Given the description of an element on the screen output the (x, y) to click on. 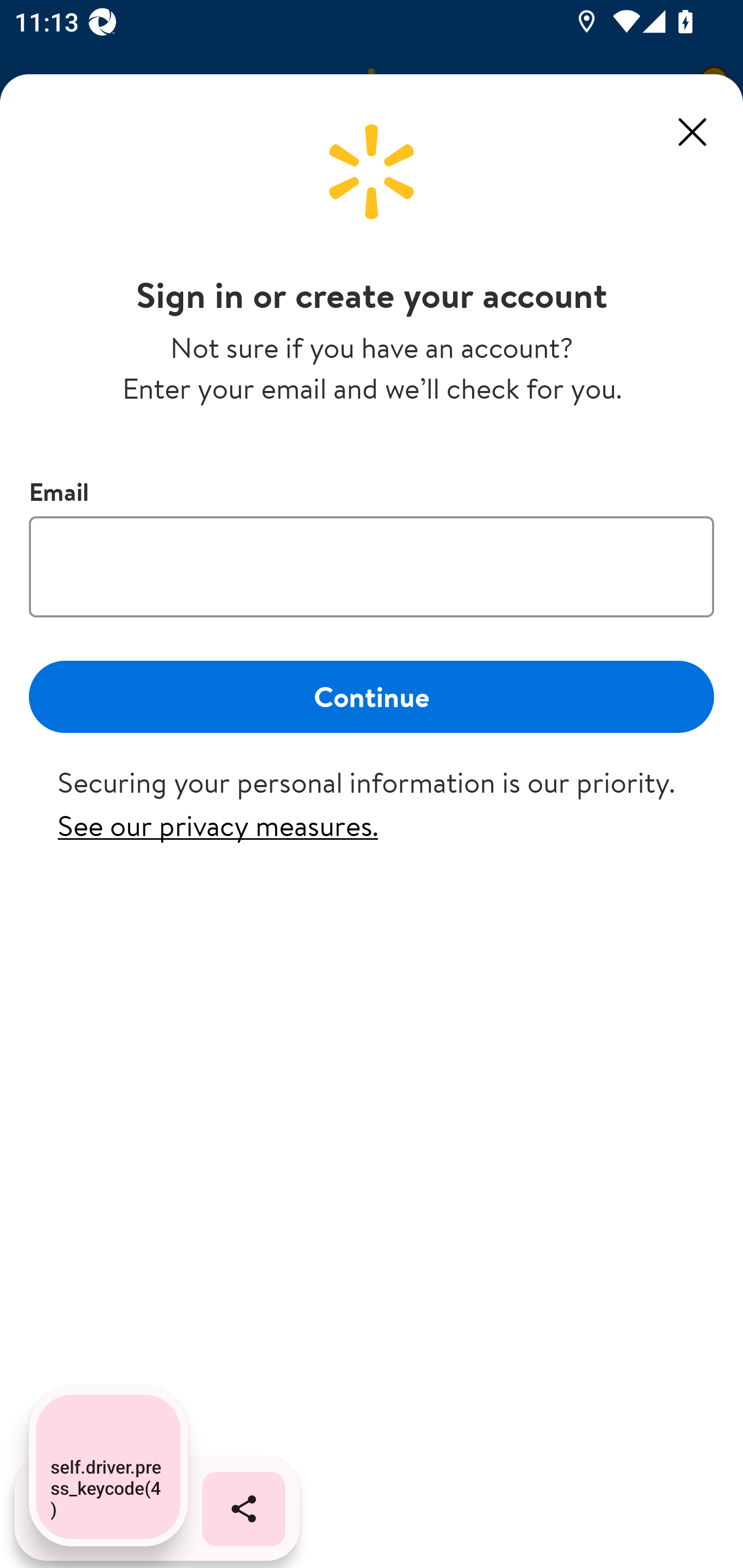
Close (692, 131)
Email (371, 566)
Continue (371, 696)
